Given the description of an element on the screen output the (x, y) to click on. 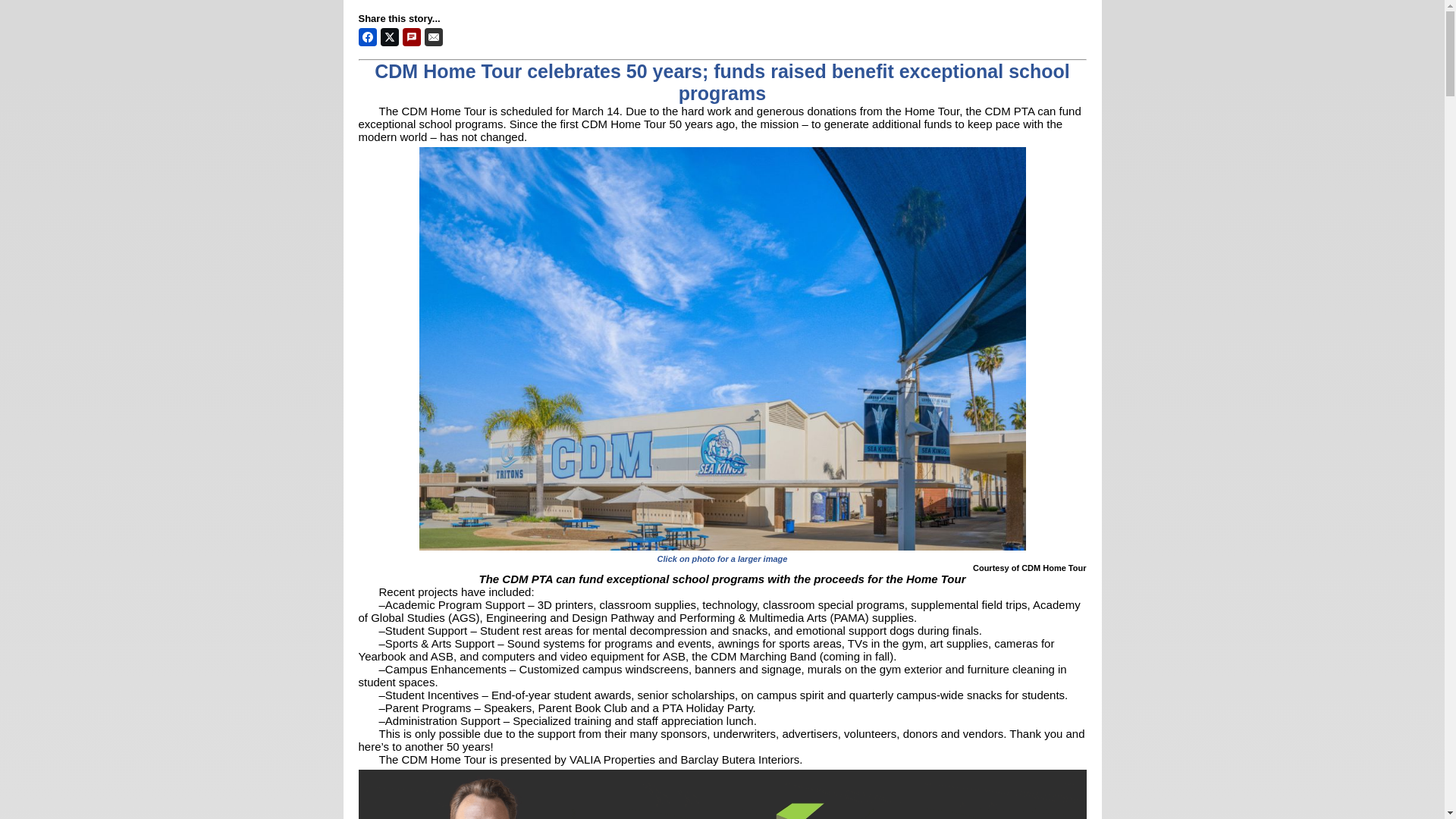
TIMSMITH-LB-0816 (722, 792)
Share on Twitter (389, 36)
Share on Email (433, 36)
Share on Facebook (366, 36)
Share on SMS (410, 36)
